Given the description of an element on the screen output the (x, y) to click on. 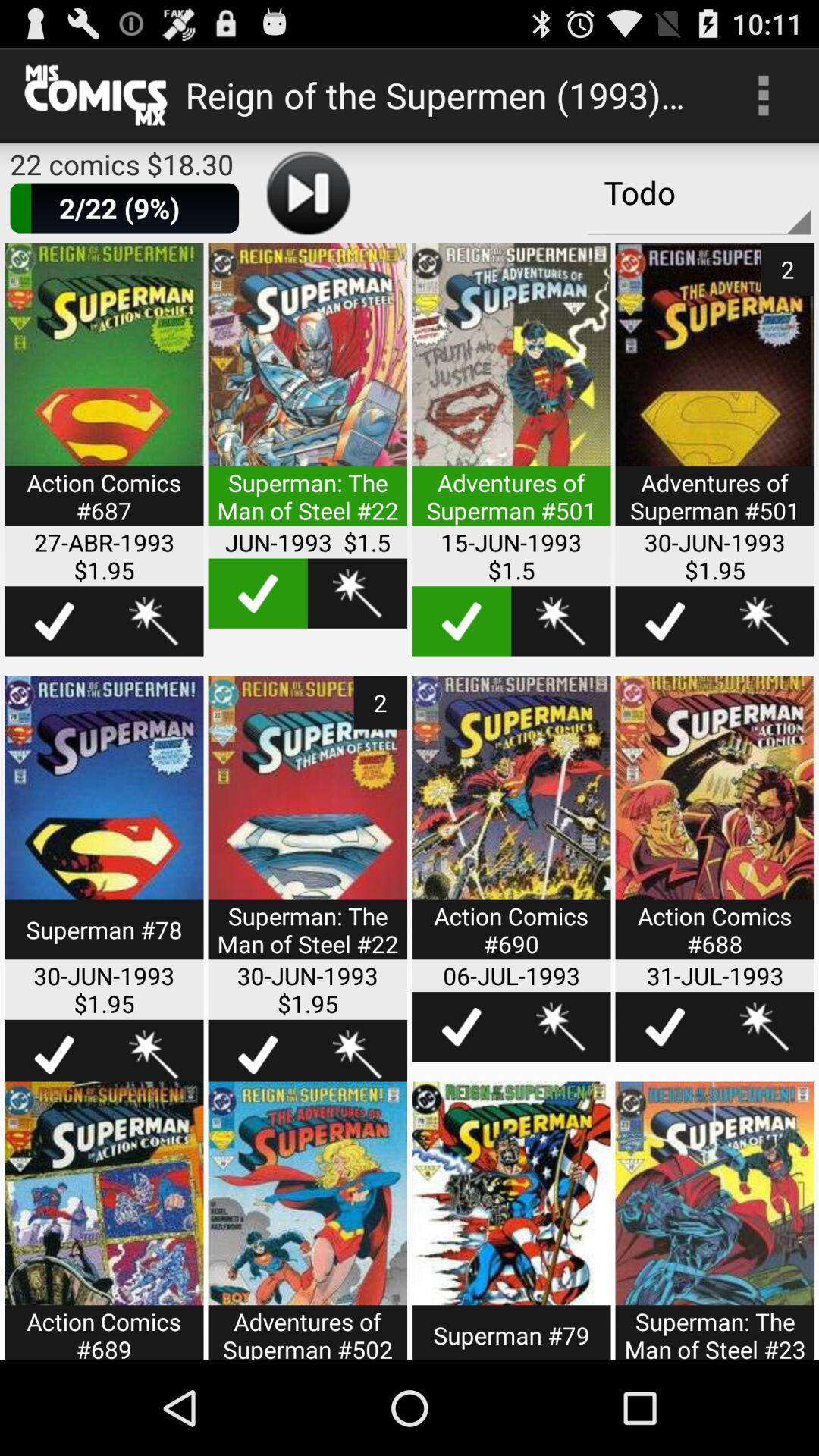
go to tick option (664, 621)
